Given the description of an element on the screen output the (x, y) to click on. 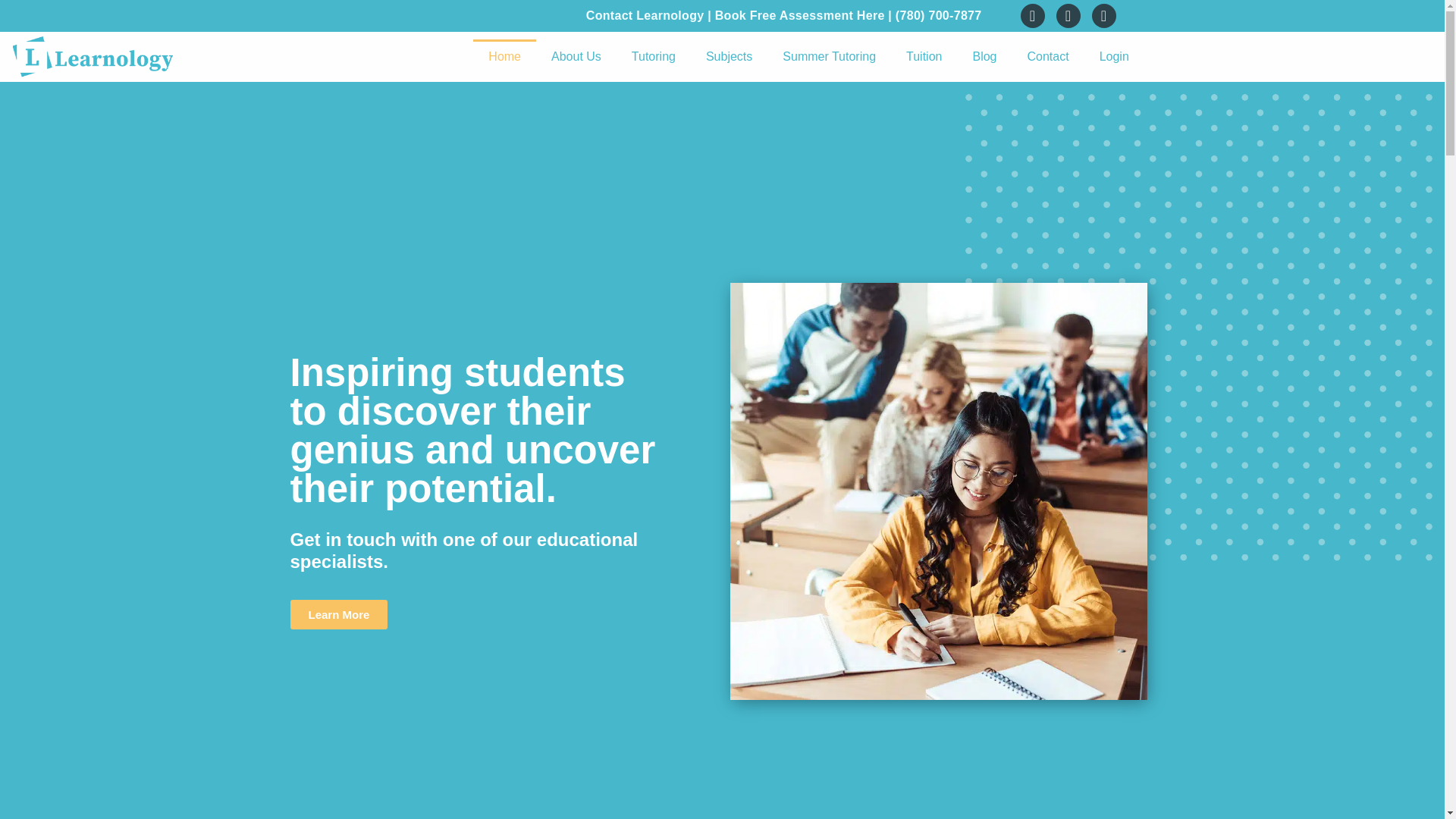
Contact (1047, 56)
Login (1114, 56)
Subjects (728, 56)
Home (504, 56)
Summer Tutoring (829, 56)
Tutoring (652, 56)
Tuition (923, 56)
Blog (983, 56)
About Us (575, 56)
